Given the description of an element on the screen output the (x, y) to click on. 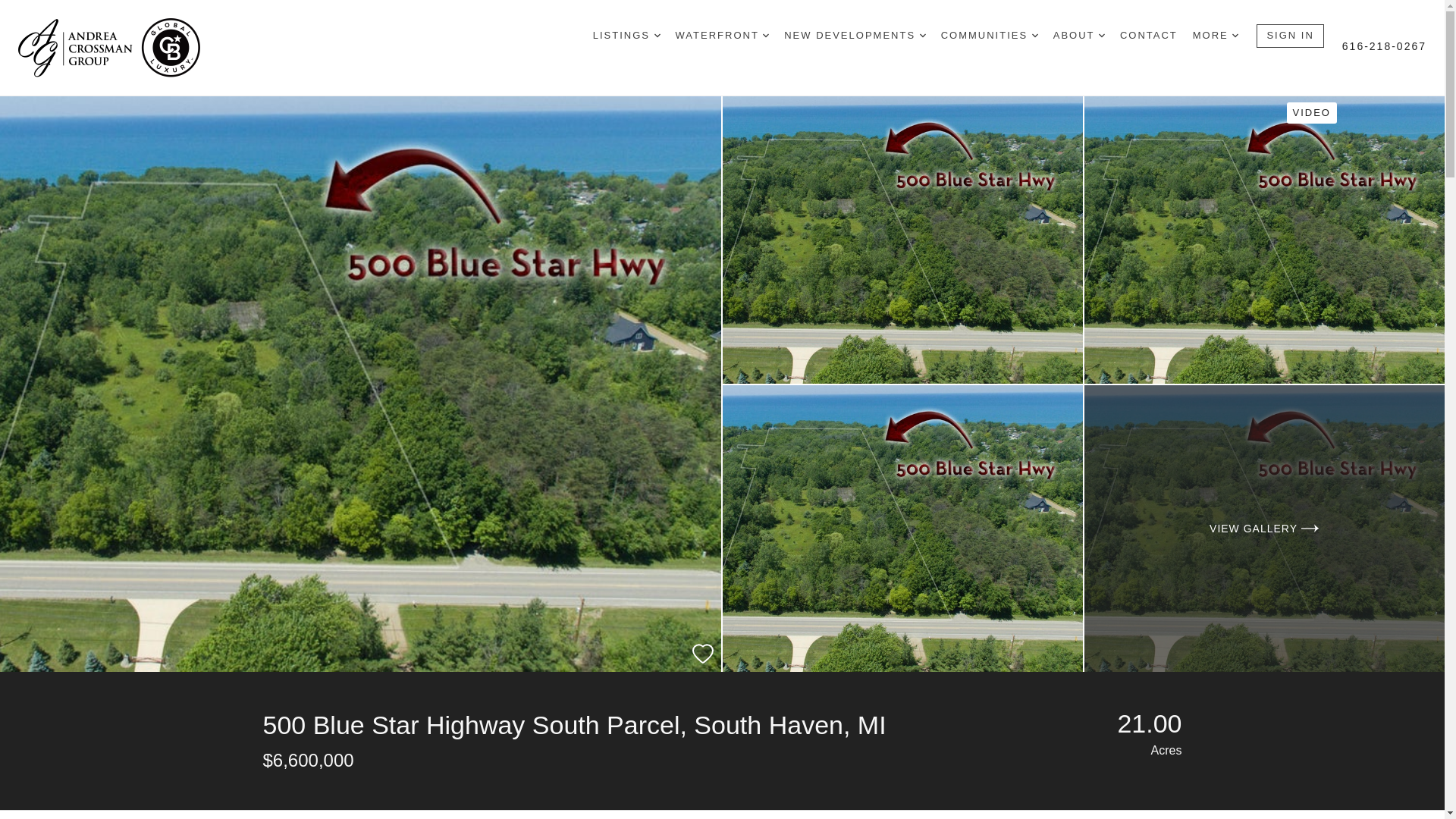
WATERFRONT DROPDOWN ARROW (722, 35)
DROPDOWN ARROW (1235, 35)
LISTINGS DROPDOWN ARROW (626, 35)
MORE DROPDOWN ARROW (1215, 35)
CONTACT (1148, 35)
DROPDOWN ARROW (923, 35)
COMMUNITIES DROPDOWN ARROW (989, 35)
DROPDOWN ARROW (657, 35)
DROPDOWN ARROW (1102, 35)
DROPDOWN ARROW (765, 35)
DROPDOWN ARROW (1035, 35)
ABOUT DROPDOWN ARROW (1078, 35)
NEW DEVELOPMENTS DROPDOWN ARROW (854, 35)
